Given the description of an element on the screen output the (x, y) to click on. 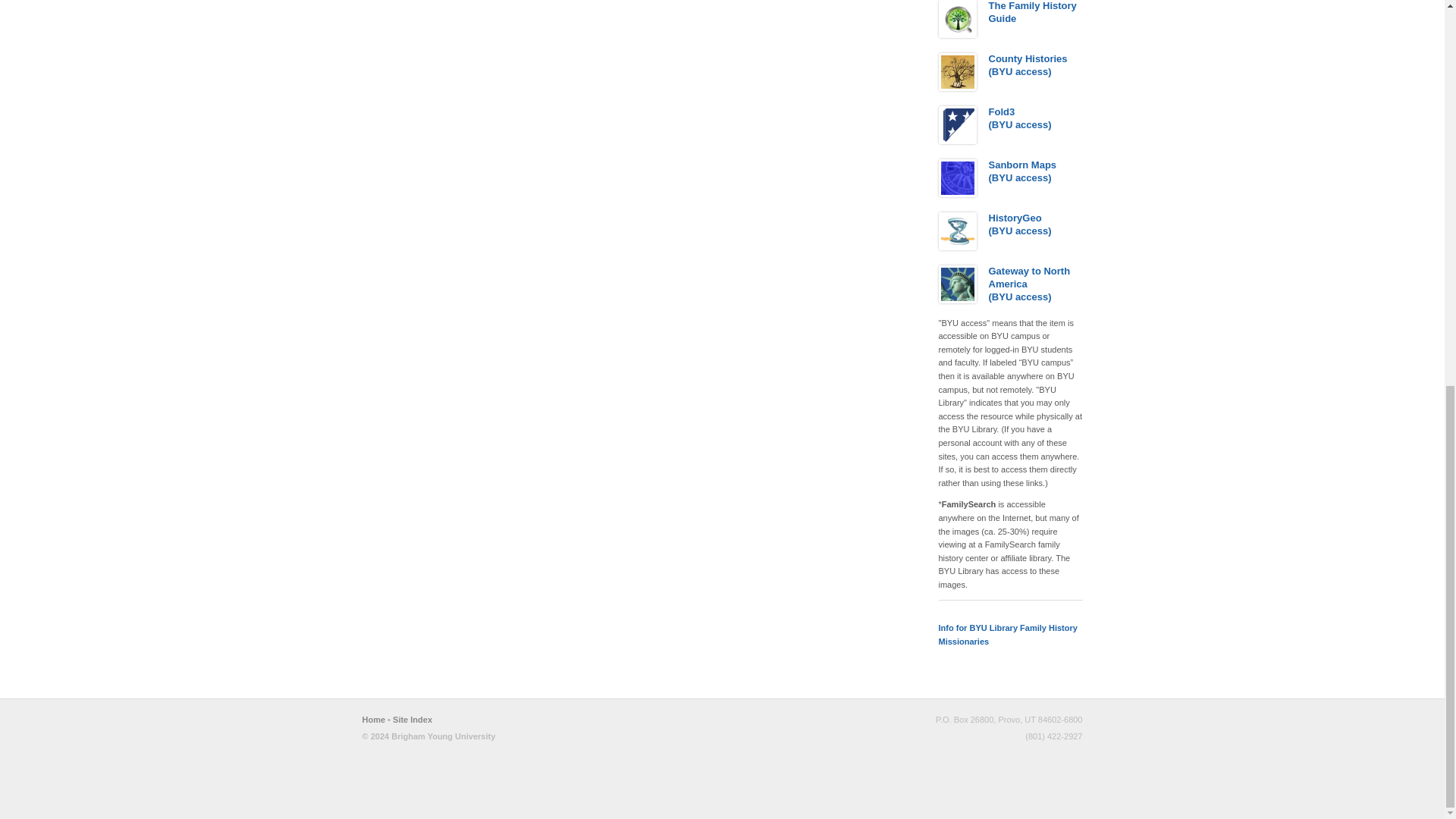
Copyright and Use Information (429, 736)
